Given the description of an element on the screen output the (x, y) to click on. 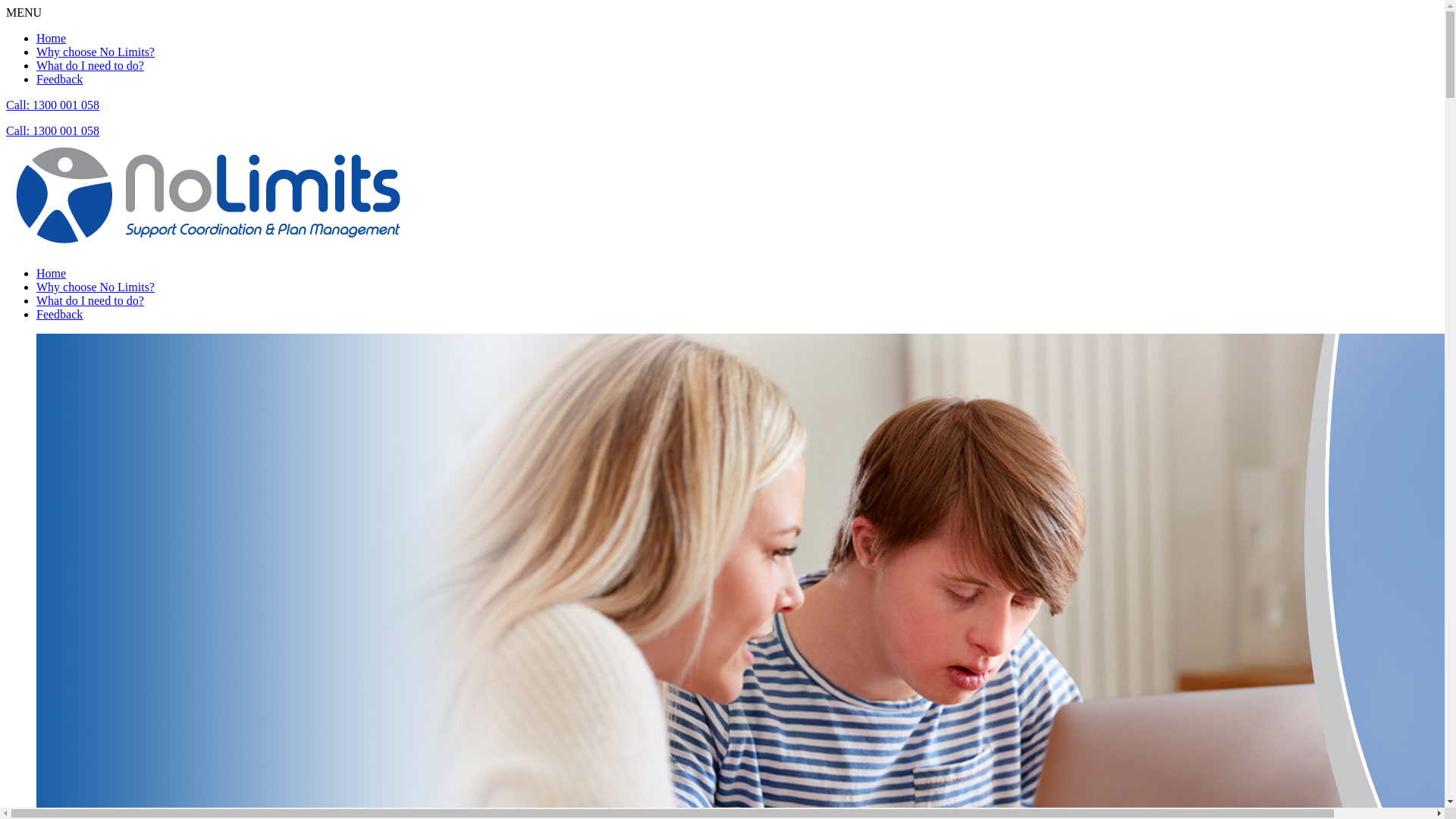
Call: 1300 001 058 Element type: text (52, 130)
Push Productions Element type: hover (208, 247)
Why choose No Limits? Element type: text (95, 51)
Feedback Element type: text (59, 313)
Feedback Element type: text (59, 78)
MENU Element type: text (23, 12)
What do I need to do? Element type: text (90, 65)
Why choose No Limits? Element type: text (95, 286)
What do I need to do? Element type: text (90, 300)
Push Productions Element type: hover (208, 194)
Home Element type: text (50, 272)
Home Element type: text (50, 37)
Call: 1300 001 058 Element type: text (52, 104)
